Given the description of an element on the screen output the (x, y) to click on. 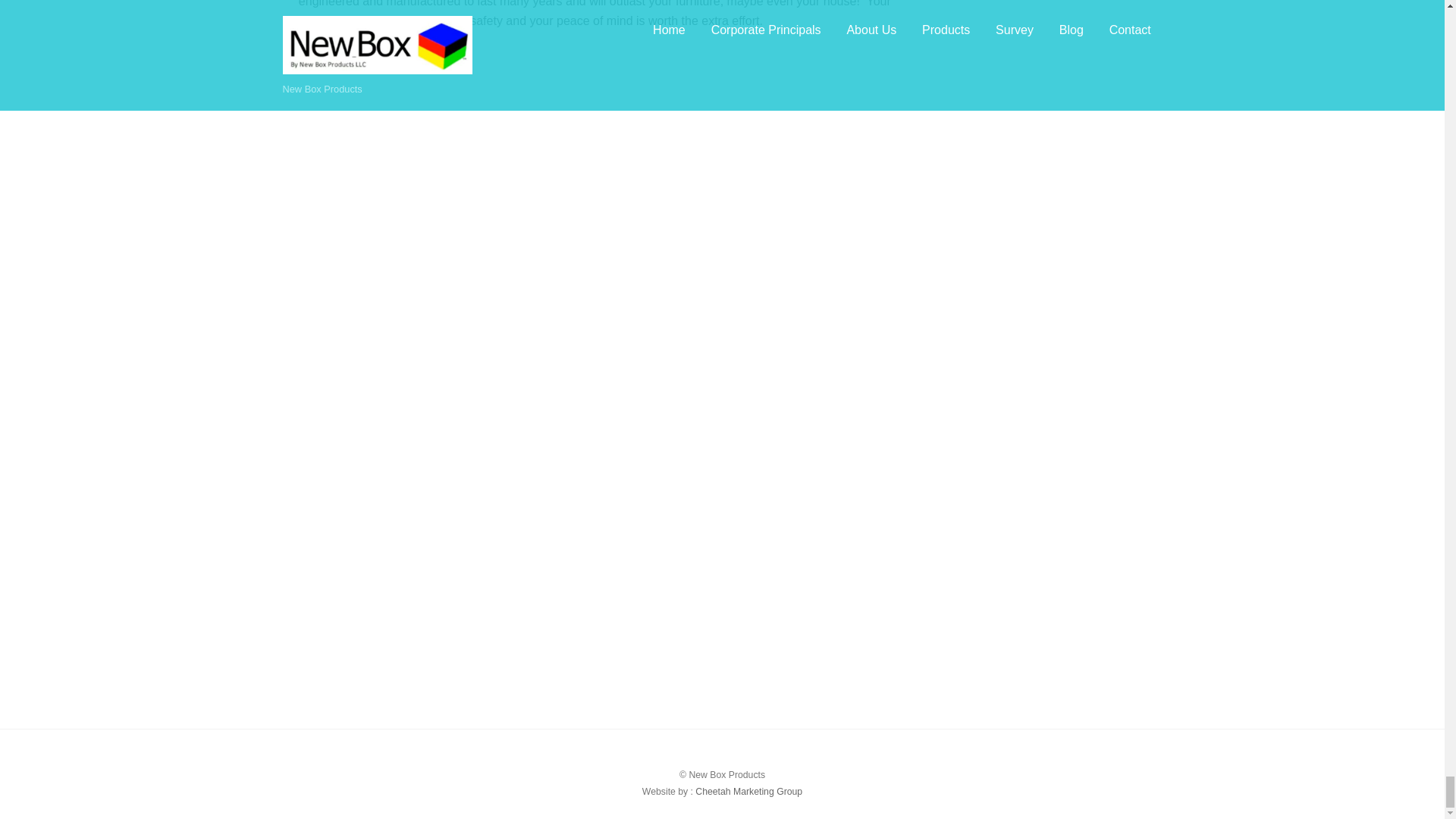
Cheetah Marketing Group (748, 792)
